Given the description of an element on the screen output the (x, y) to click on. 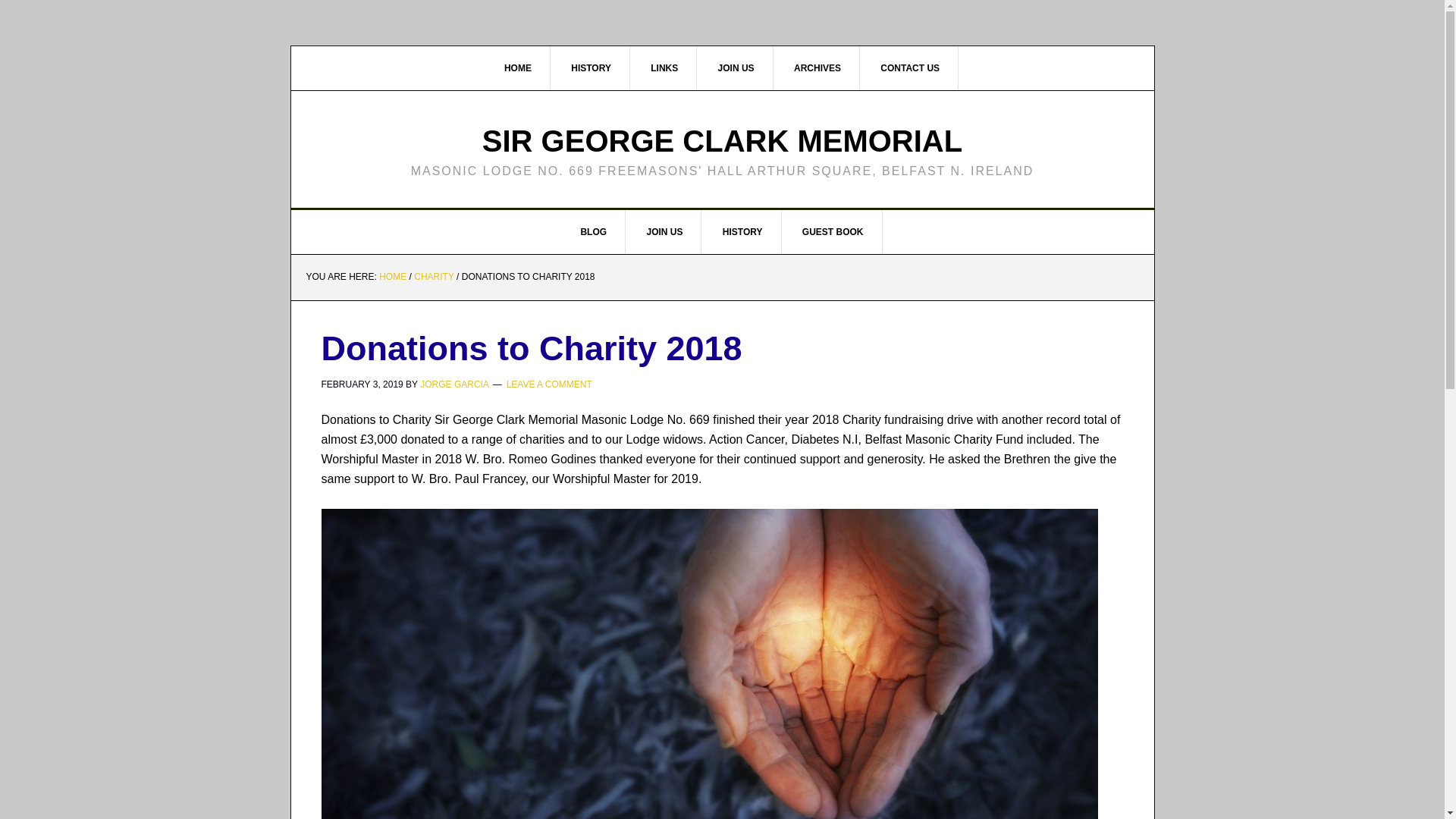
CONTACT US (909, 67)
HISTORY (742, 231)
HOME (518, 67)
LEAVE A COMMENT (549, 384)
SIR GEORGE CLARK MEMORIAL (721, 141)
JORGE GARCIA (453, 384)
LINKS (664, 67)
GUEST BOOK (833, 231)
CHARITY (432, 276)
JOIN US (736, 67)
ARCHIVES (818, 67)
BLOG (594, 231)
HOME (392, 276)
JOIN US (664, 231)
HISTORY (591, 67)
